Given the description of an element on the screen output the (x, y) to click on. 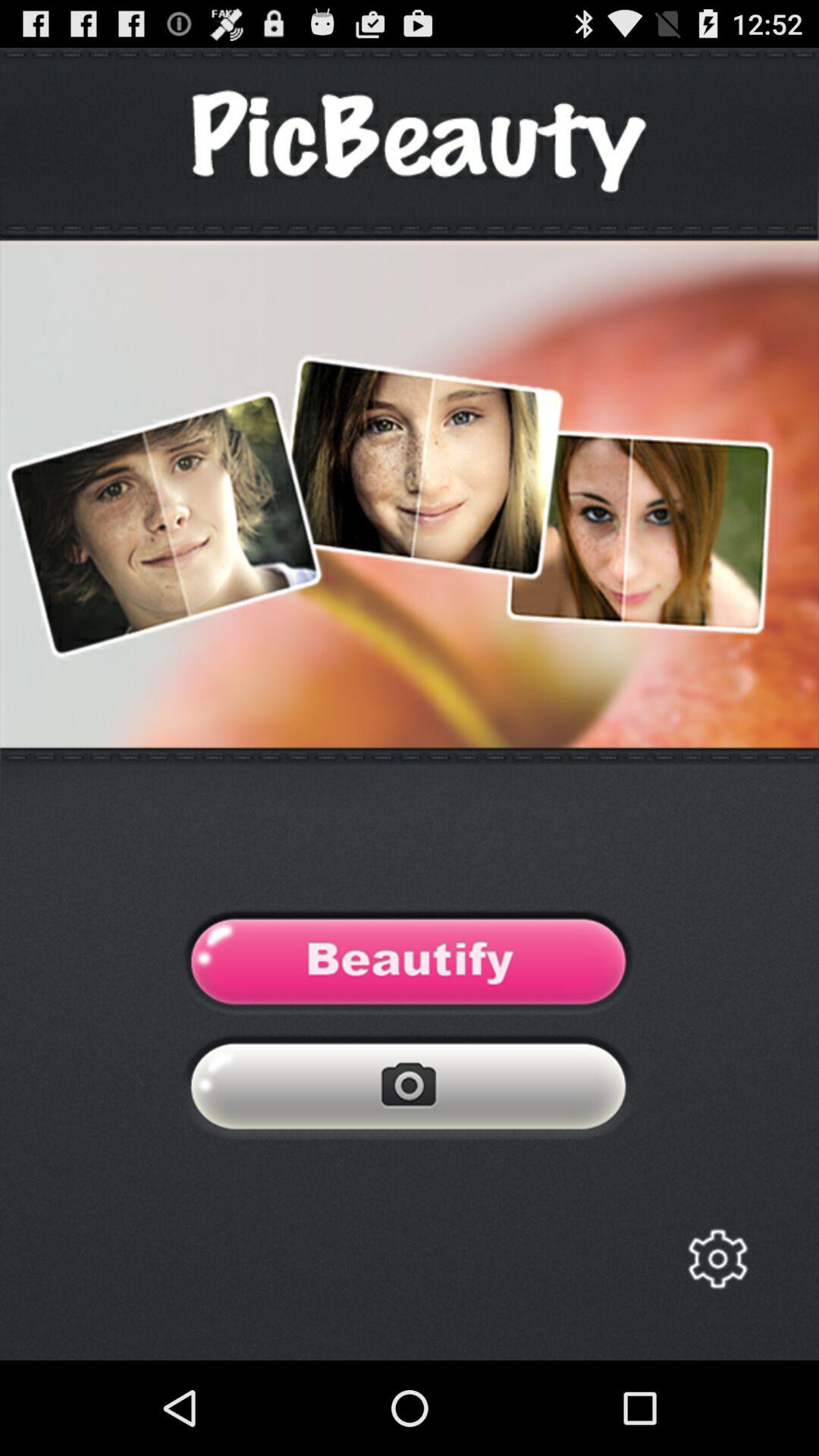
settings (717, 1258)
